Given the description of an element on the screen output the (x, y) to click on. 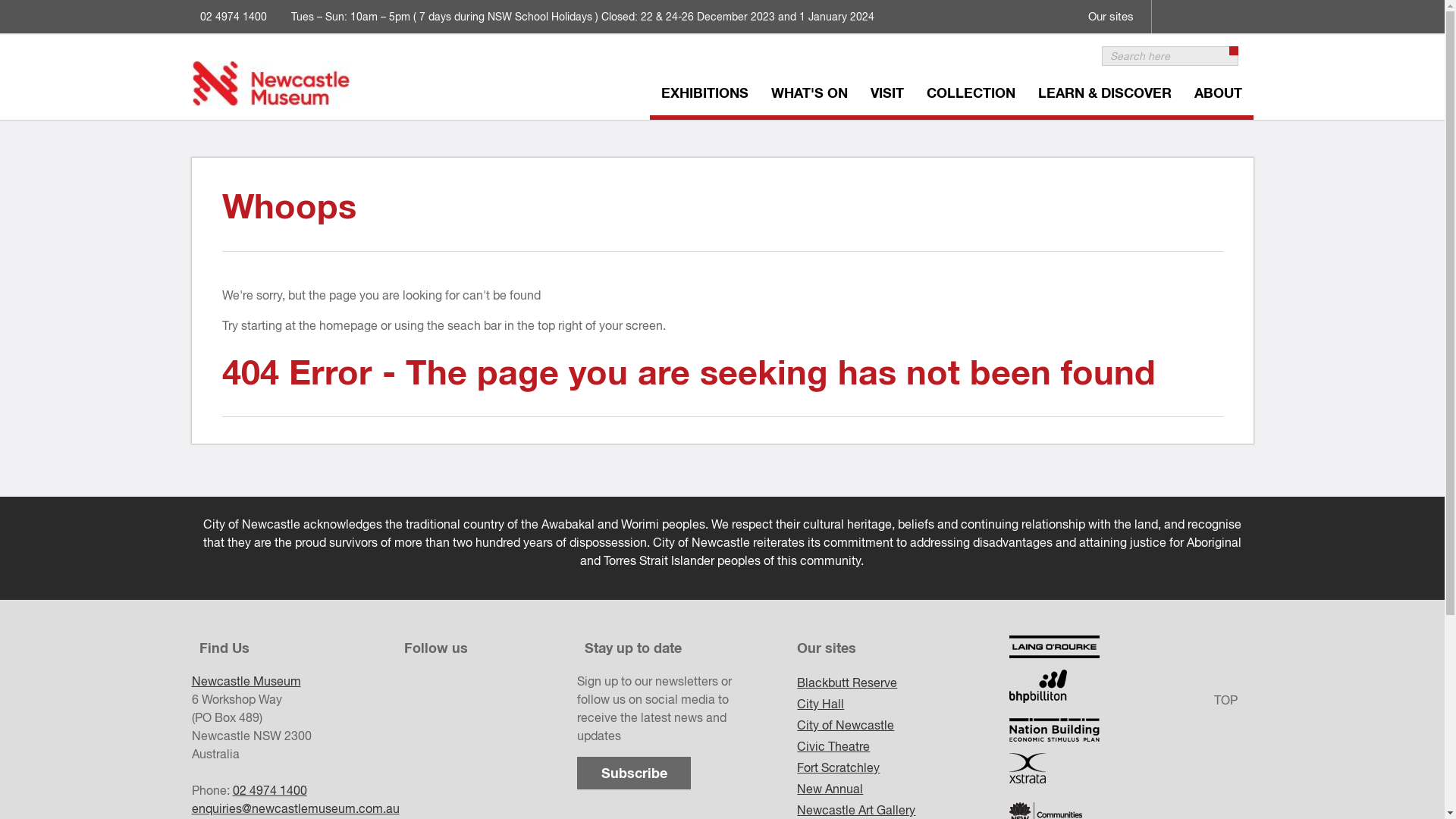
City Hall Element type: text (903, 703)
Contrast Element type: text (1236, 6)
City of Newcastle Element type: text (903, 724)
Newcastle Museum Element type: text (245, 680)
EXHIBITIONS Element type: text (704, 94)
Subscribe Element type: text (633, 772)
COLLECTION Element type: text (970, 94)
Fort Scratchley Element type: text (903, 767)
VISIT Element type: text (886, 94)
Blackbutt Reserve Element type: text (903, 682)
02 4974 1400 Element type: text (233, 16)
ABOUT Element type: text (1218, 94)
WHAT'S ON Element type: text (809, 94)
Civic Theatre Element type: text (903, 745)
Instagram Element type: text (1204, 6)
Facebook Element type: text (1173, 6)
New Annual Element type: text (903, 788)
enquiries@newcastlemuseum.com.au Element type: text (294, 808)
02 4974 1400 Element type: text (269, 790)
LEARN & DISCOVER Element type: text (1104, 94)
